Given the description of an element on the screen output the (x, y) to click on. 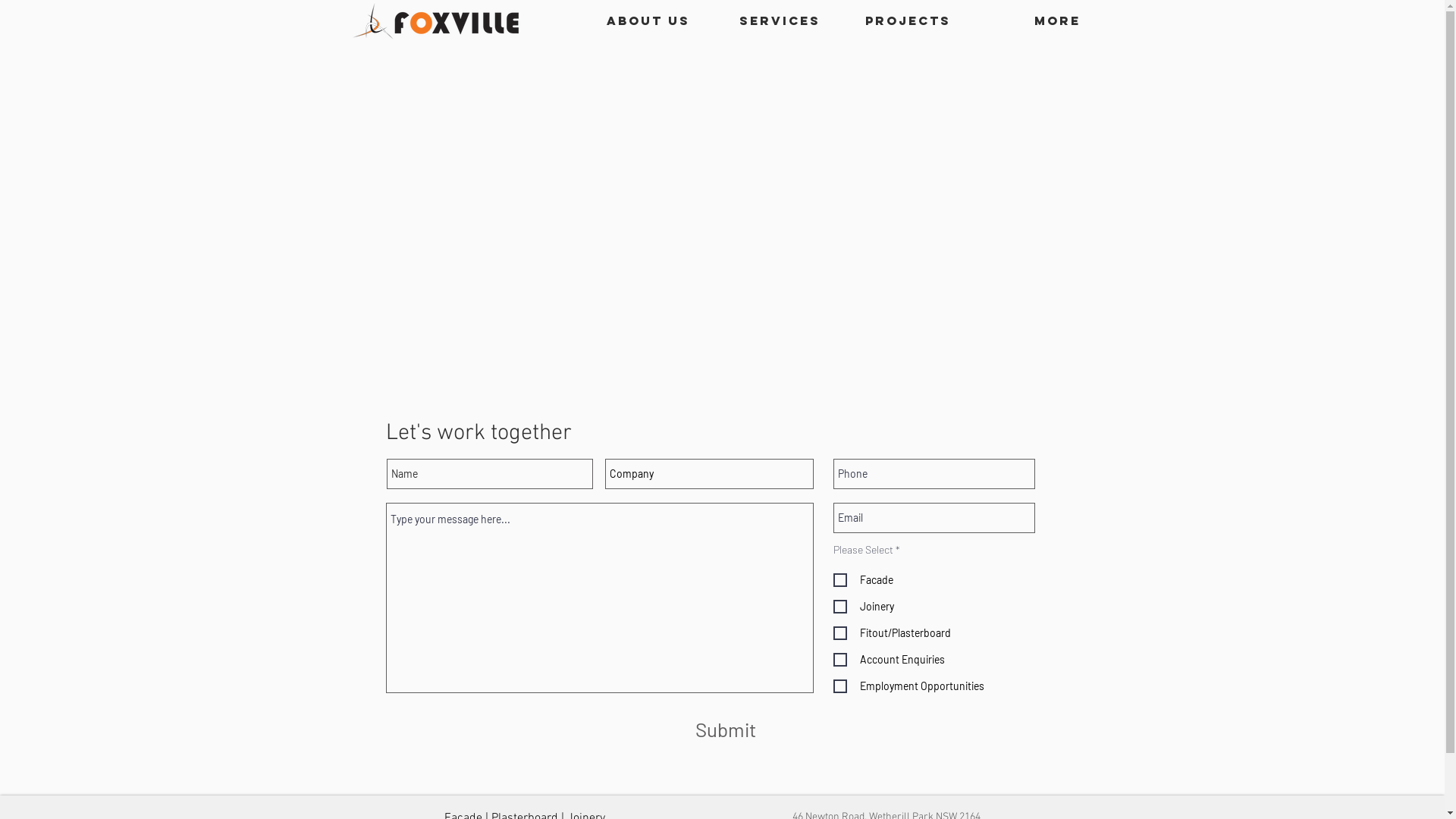
Projects Element type: text (896, 20)
Submit Element type: text (724, 729)
ABOUT US Element type: text (635, 20)
SERVICES Element type: text (765, 20)
Google Maps Element type: hover (722, 222)
